Given the description of an element on the screen output the (x, y) to click on. 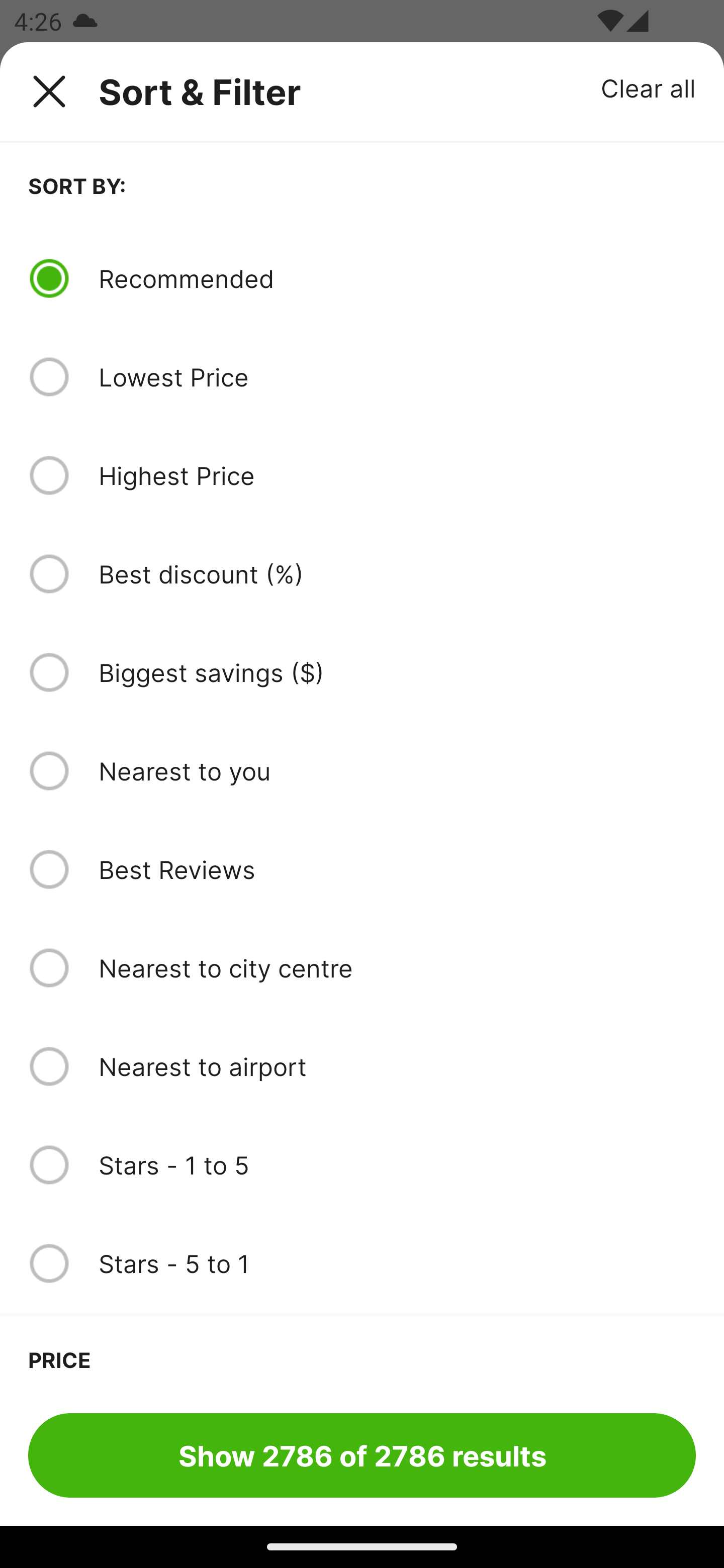
Clear all (648, 87)
Recommended  (396, 278)
Lowest Price (396, 377)
Highest Price (396, 474)
Best discount (%) (396, 573)
Biggest savings ($) (396, 672)
Nearest to you (396, 770)
Best Reviews (396, 869)
Nearest to city centre (396, 968)
Nearest to airport (396, 1065)
Stars - 1 to 5 (396, 1164)
Stars - 5 to 1 (396, 1263)
Show 2786 of 2786 results (361, 1454)
